Given the description of an element on the screen output the (x, y) to click on. 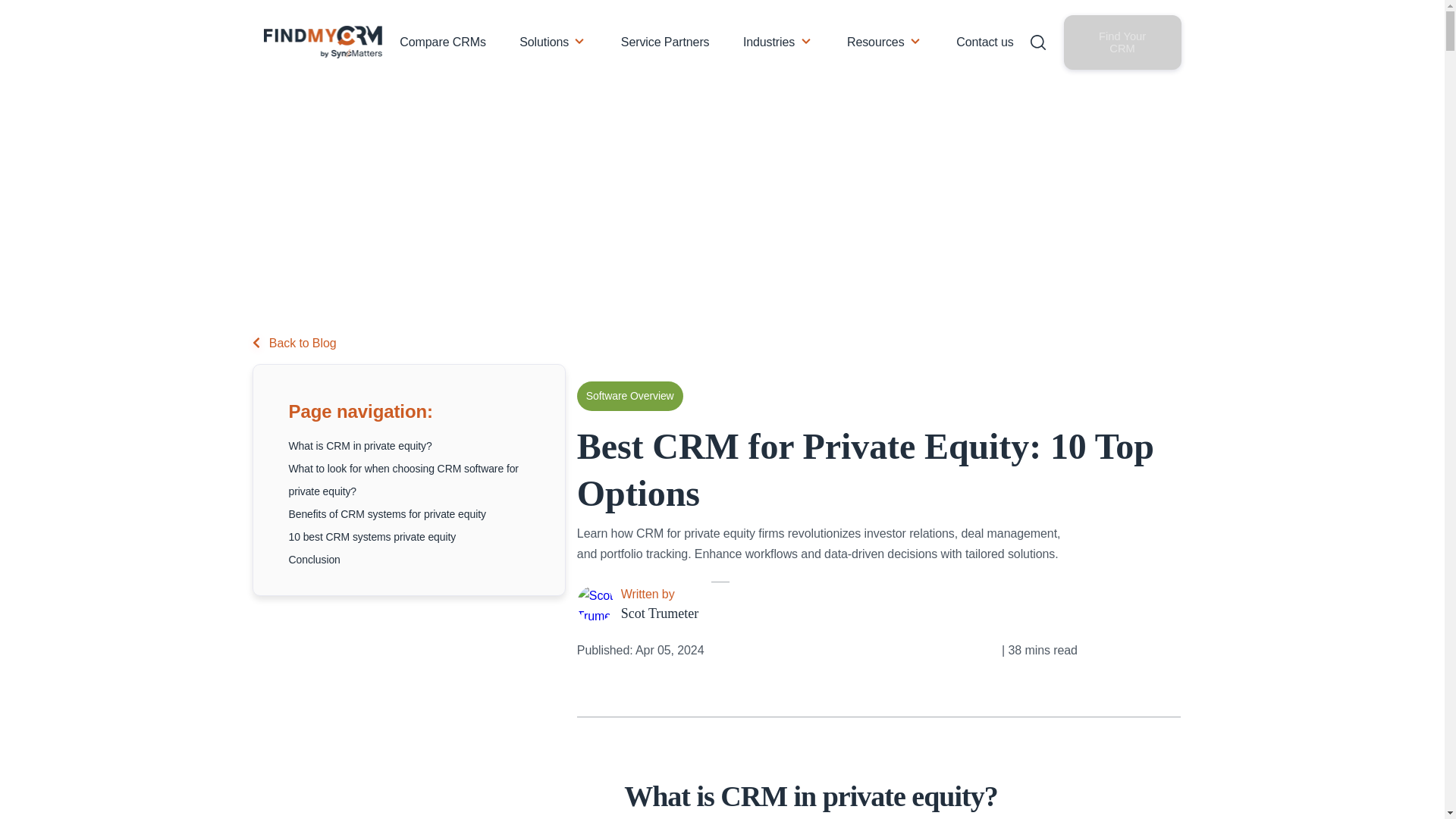
Contact us (984, 42)
Resources (875, 42)
Service Partners (665, 42)
FMC logo (324, 42)
Solutions (544, 42)
Industries (768, 42)
Compare CRMs (442, 42)
